Given the description of an element on the screen output the (x, y) to click on. 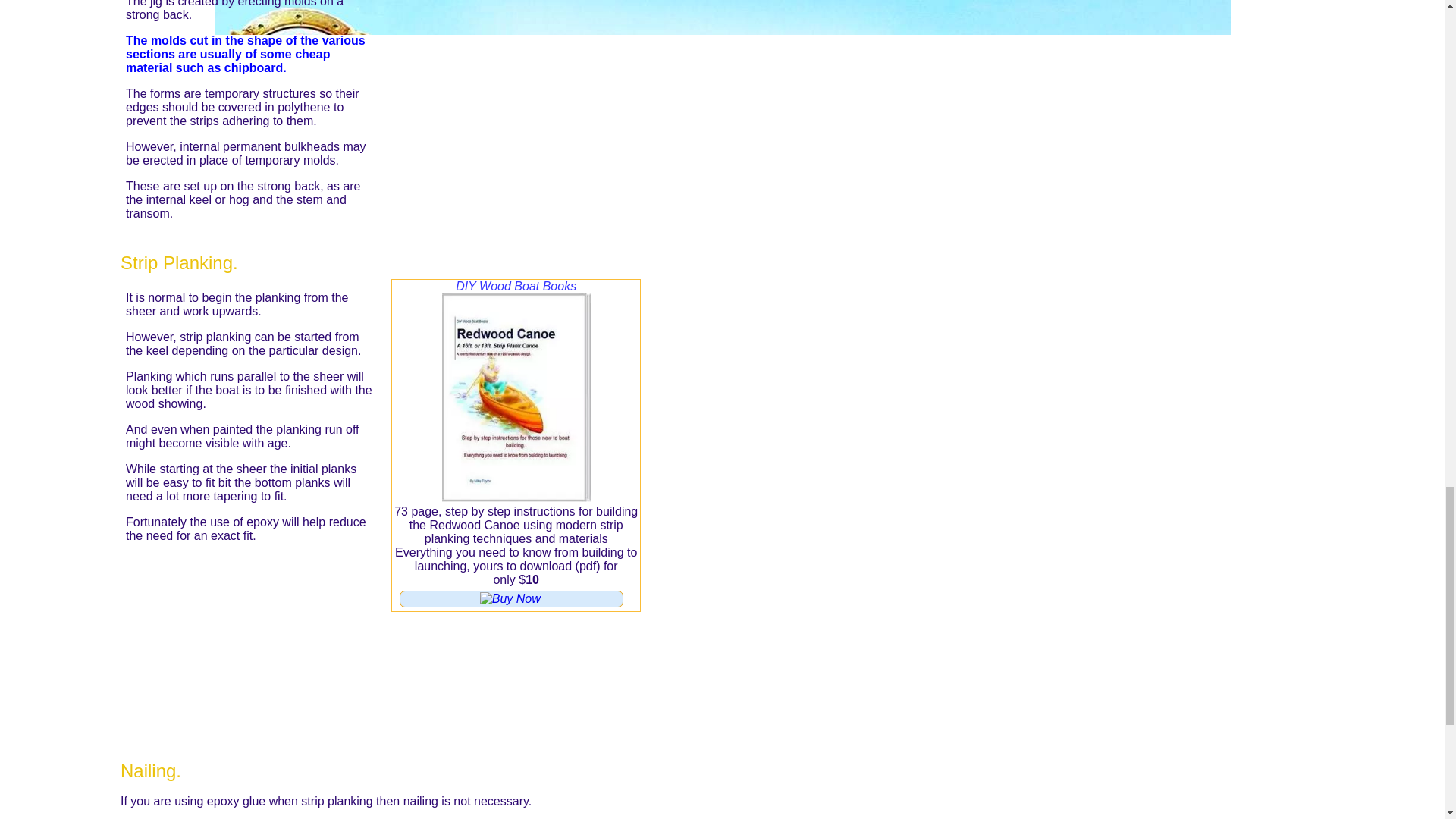
Go to Book Shop (515, 109)
